Given the description of an element on the screen output the (x, y) to click on. 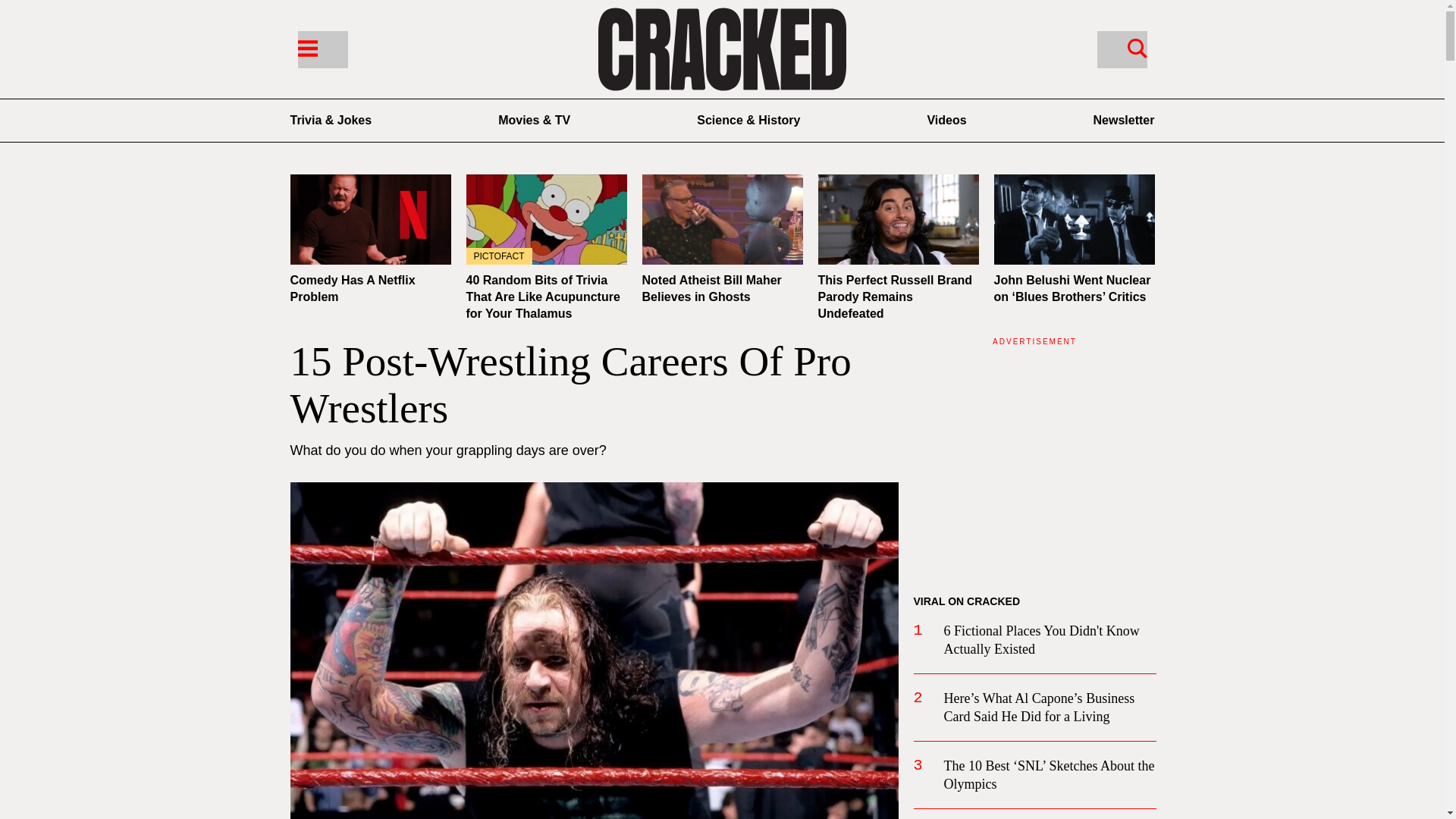
Noted Atheist Bill Maher Believes in Ghosts (711, 288)
Newsletter (1123, 119)
Menu (307, 47)
Cracked Newsletter (1123, 119)
Menu (322, 48)
Comedy Has A Netflix Problem (369, 219)
Comedy Has A Netflix Problem (351, 288)
Search (1136, 47)
PICTOFACT (545, 219)
Videos (946, 119)
Search (1121, 48)
This Perfect Russell Brand Parody Remains Undefeated (894, 296)
Videos (946, 119)
